Given the description of an element on the screen output the (x, y) to click on. 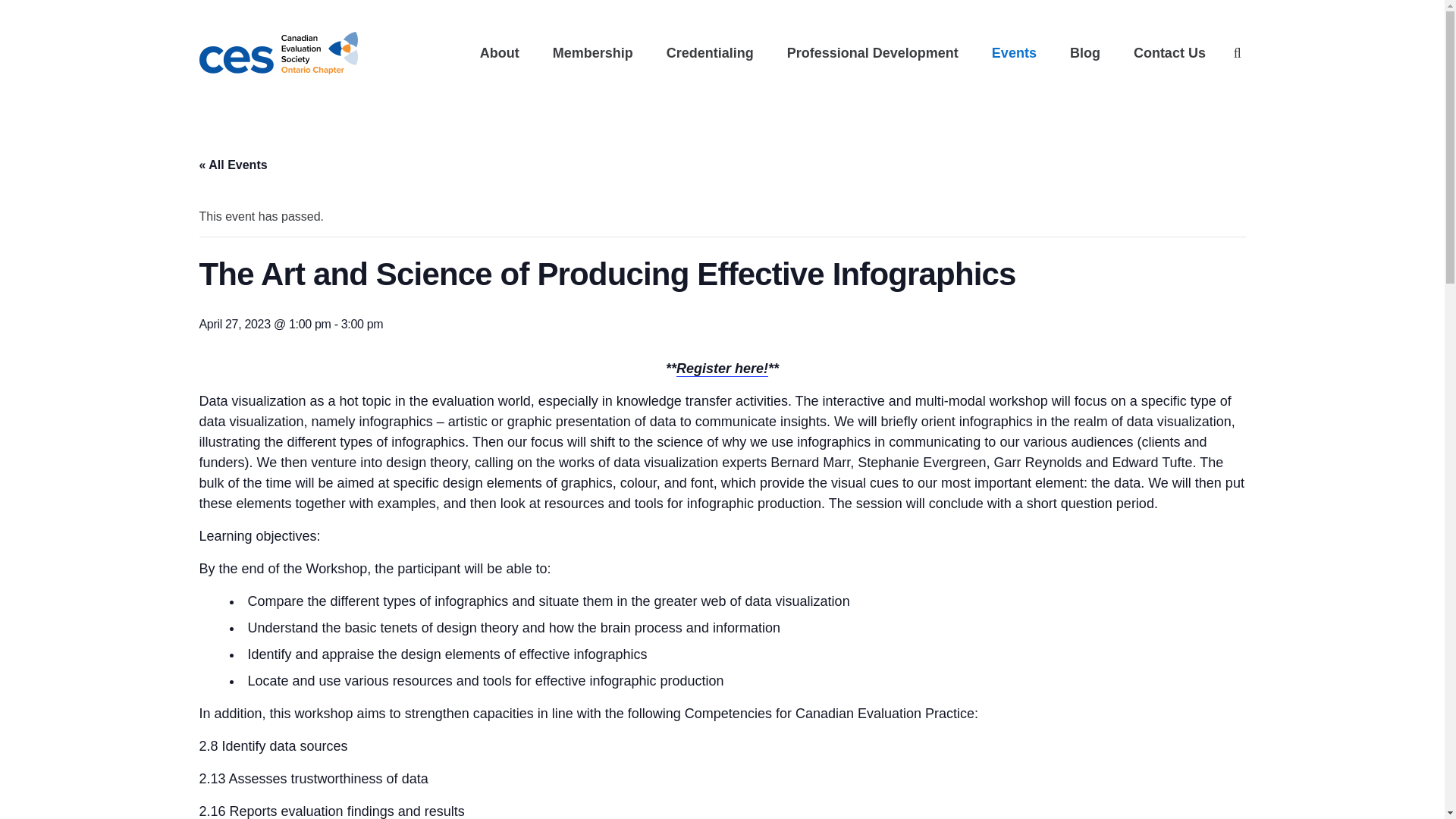
Blog (1084, 53)
Register here! (722, 368)
Professional Development (872, 53)
Contact Us (1169, 53)
Events (1013, 53)
Membership (592, 53)
About (499, 53)
Credentialing (709, 53)
